Given the description of an element on the screen output the (x, y) to click on. 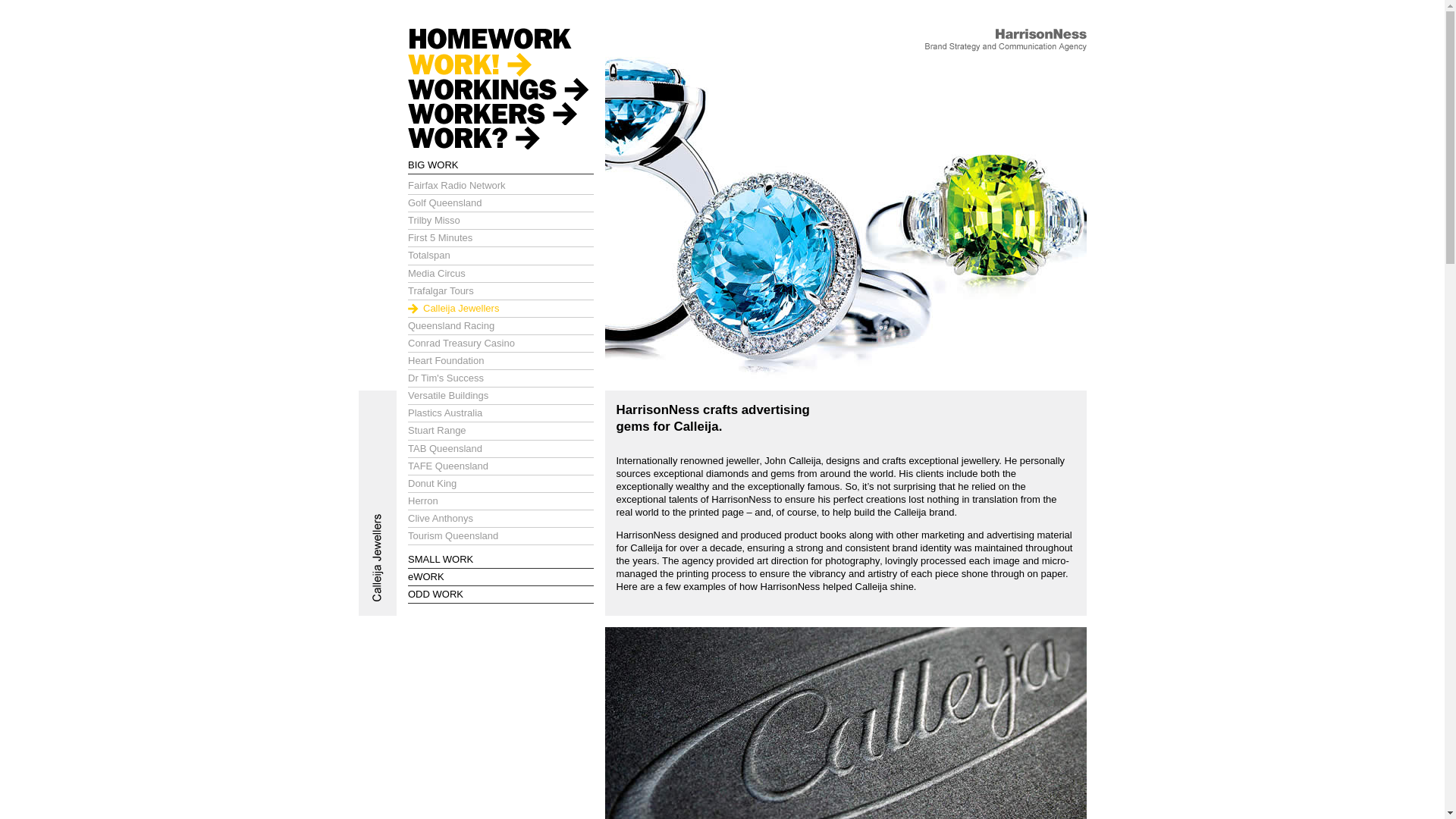
Versatile Buildings Element type: text (500, 395)
Stuart Range Element type: text (500, 430)
Trilby Misso Element type: text (500, 220)
Calleija Jewellers Element type: text (500, 308)
TAB Queensland Element type: text (500, 448)
Tourism Queensland Element type: text (500, 536)
Workers Element type: text (500, 112)
Homework Element type: text (500, 40)
Totalspan Element type: text (500, 255)
Click To View Larger Image Element type: hover (845, 372)
BIG WORK Element type: text (432, 164)
Work? Element type: text (500, 137)
TAFE Queensland Element type: text (500, 466)
Calleija Jewellers Element type: hover (845, 217)
Fairfax Radio Network Element type: text (500, 185)
Trafalgar Tours Element type: text (500, 291)
Clive Anthonys Element type: text (500, 518)
SMALL WORK Element type: text (440, 558)
Donut King Element type: text (500, 483)
Dr Tim's Success Element type: text (500, 378)
Herron Element type: text (500, 501)
Workings Element type: text (500, 88)
Queensland Racing Element type: text (500, 326)
Conrad Treasury Casino Element type: text (500, 343)
Heart Foundation Element type: text (500, 361)
Media Circus Element type: text (500, 273)
First 5 Minutes Element type: text (500, 238)
Golf Queensland Element type: text (500, 203)
ODD WORK Element type: text (435, 593)
Plastics Australia Element type: text (500, 413)
eWORK Element type: text (425, 576)
Work! Element type: text (500, 64)
